Given the description of an element on the screen output the (x, y) to click on. 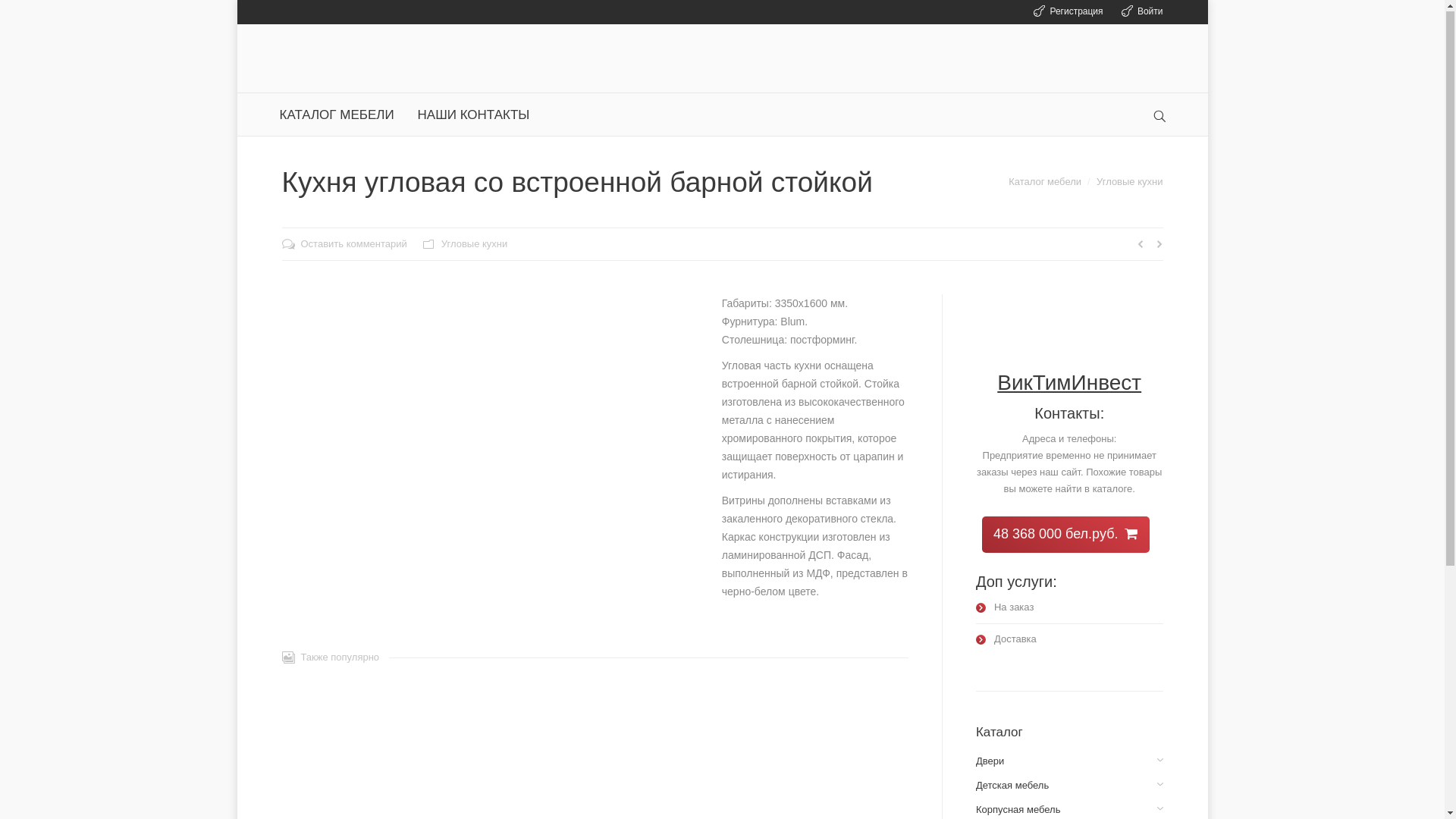
  Element type: text (1159, 116)
Go! Element type: text (18, 13)
